Given the description of an element on the screen output the (x, y) to click on. 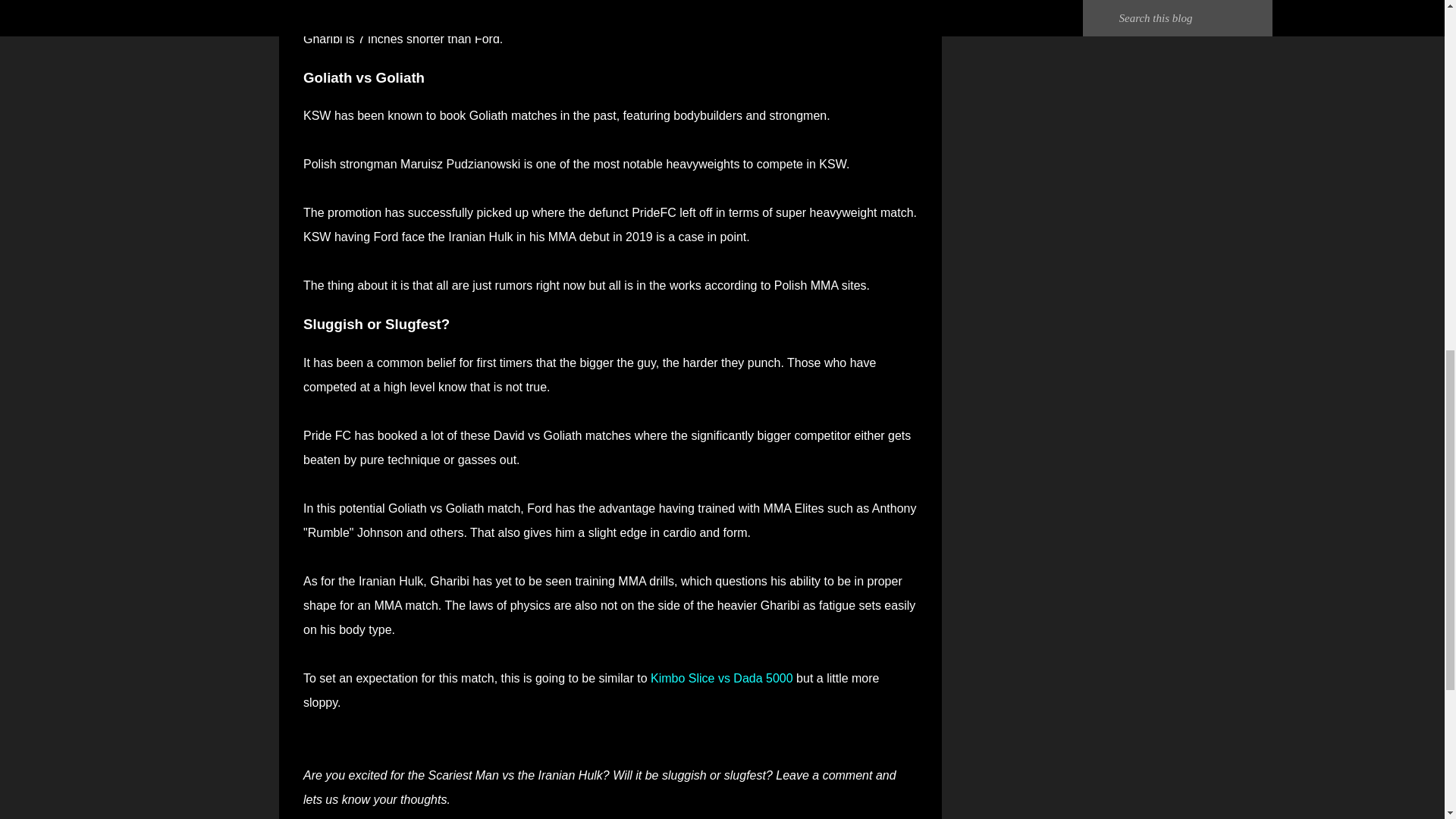
Kimbo Slice vs Dada 5000 (721, 677)
